Given the description of an element on the screen output the (x, y) to click on. 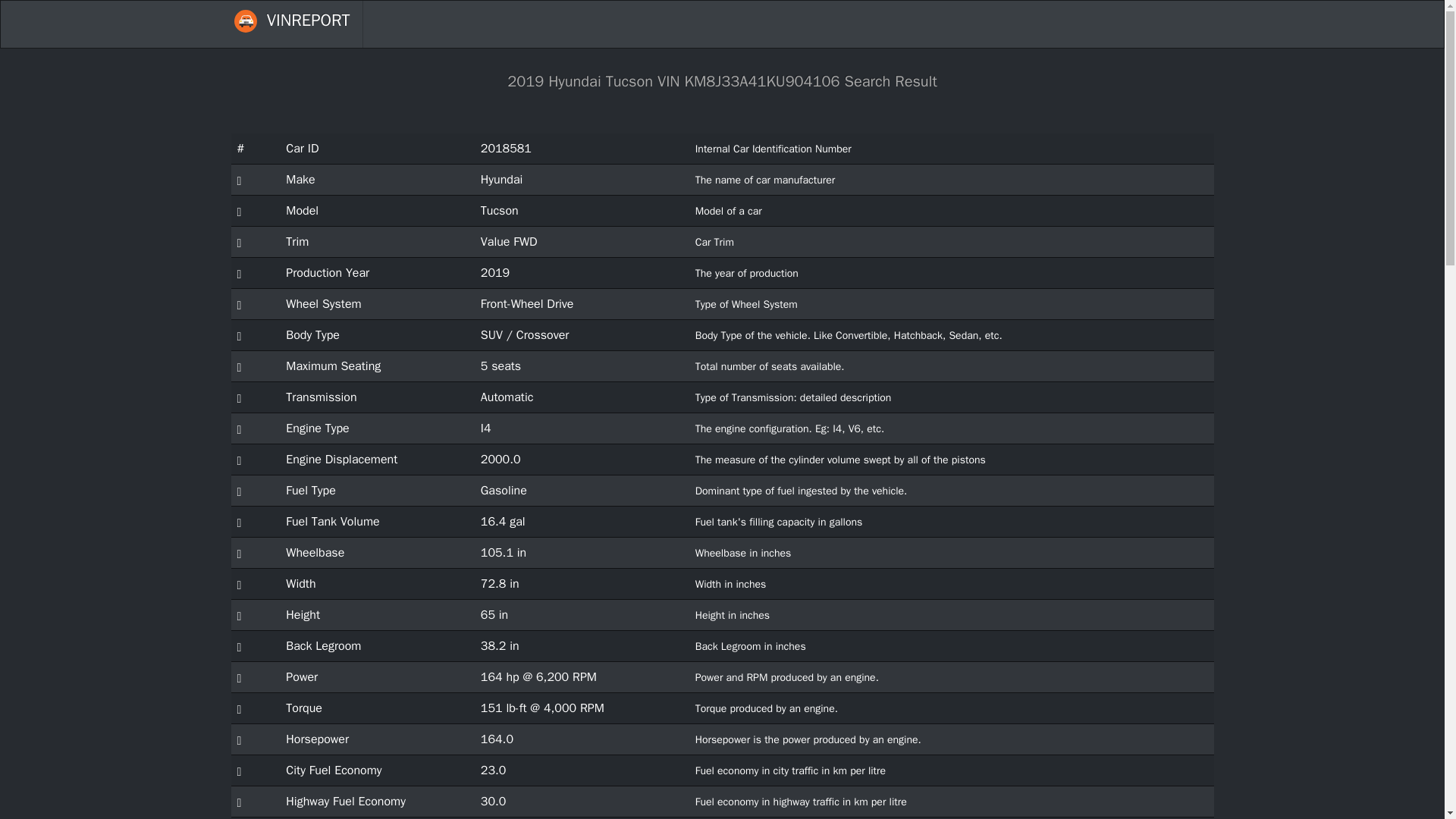
VinReport.me (244, 20)
  VINREPORT (291, 23)
VinReport.ME (291, 23)
